Given the description of an element on the screen output the (x, y) to click on. 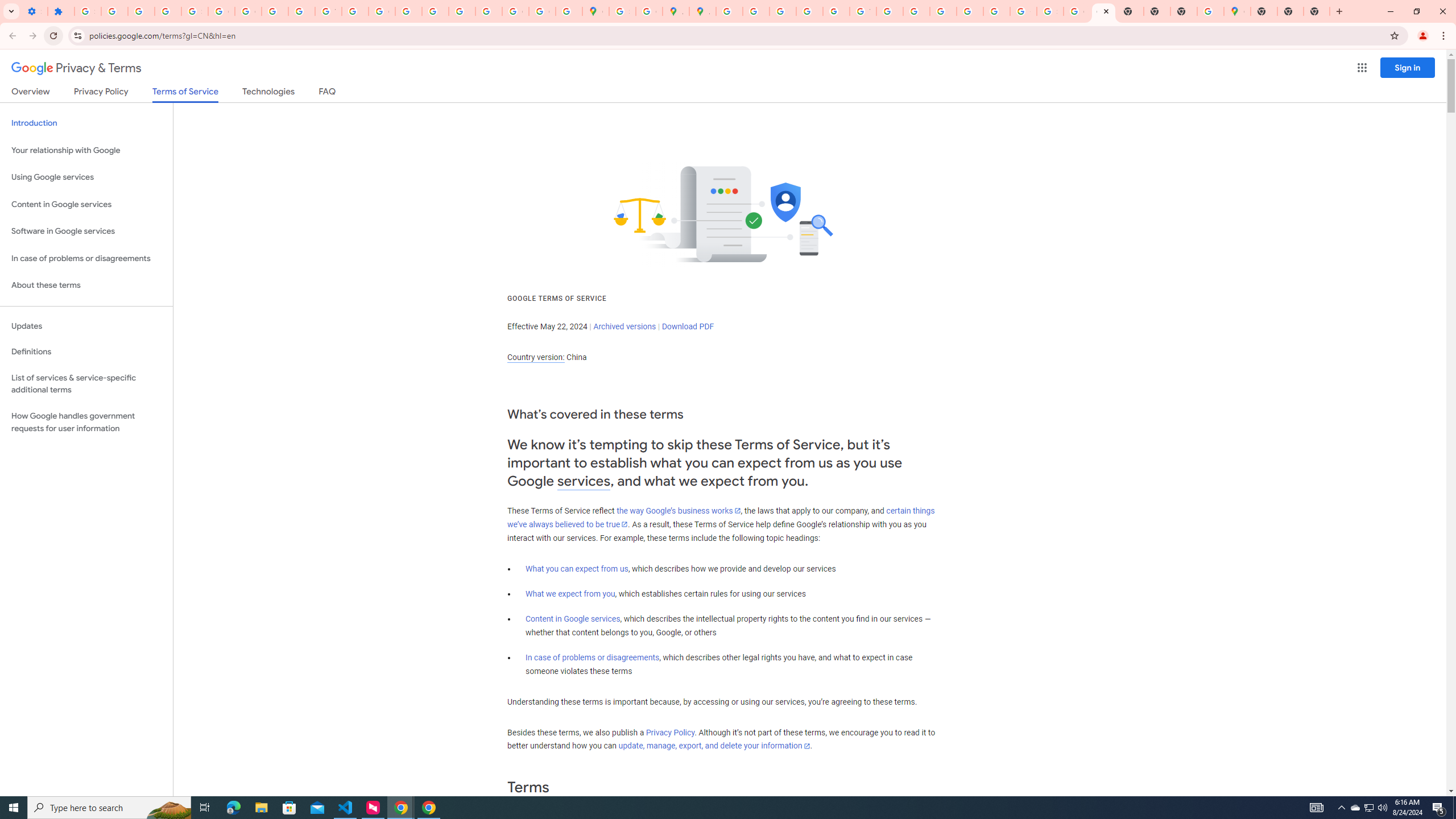
Google Maps (1236, 11)
Download PDF (687, 326)
Archived versions (624, 326)
New Tab (1316, 11)
Settings - On startup (34, 11)
